Given the description of an element on the screen output the (x, y) to click on. 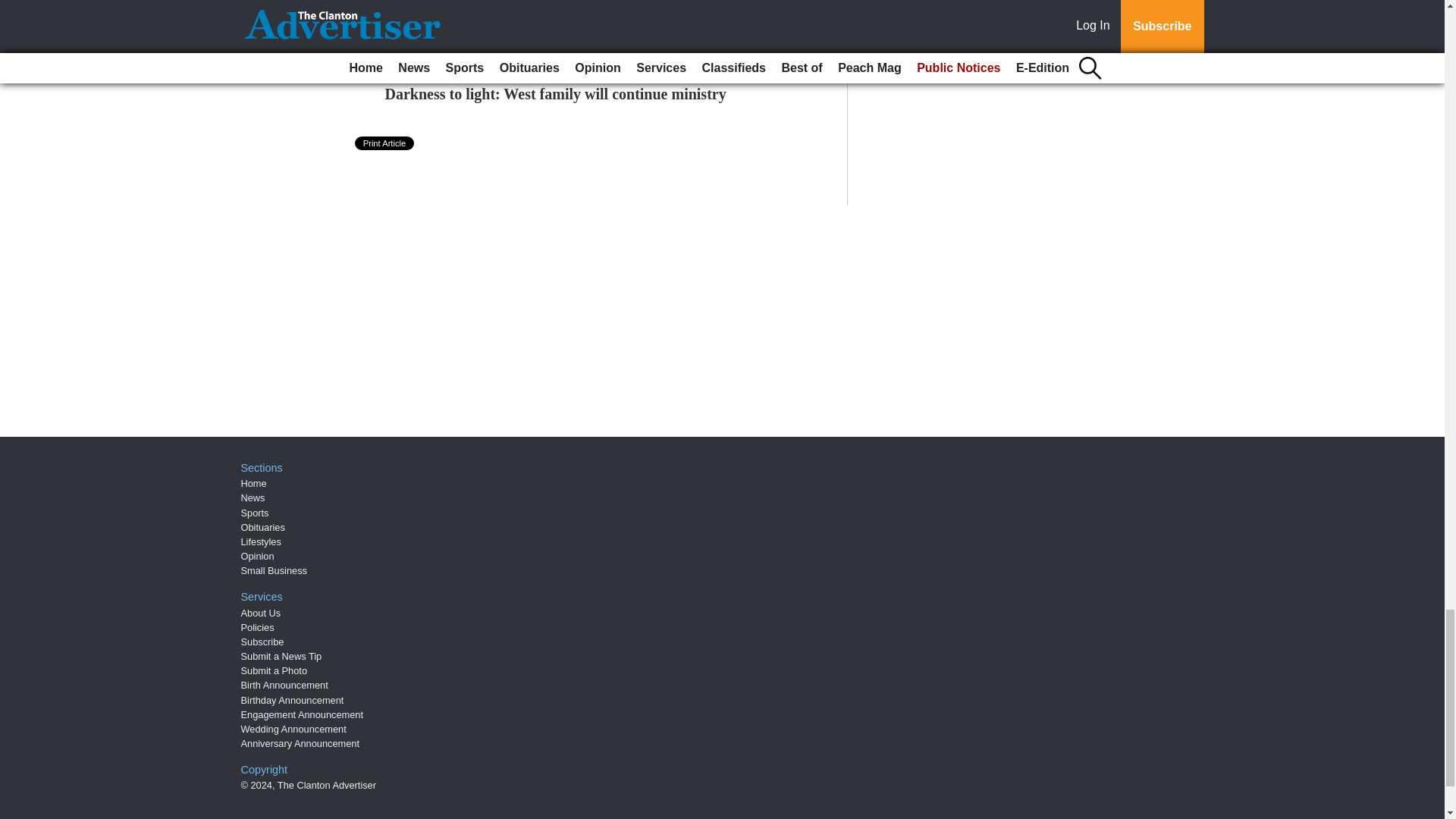
Darkness to light: West family will continue ministry (555, 93)
Darkness to light: West family will continue ministry (555, 93)
Print Article (384, 142)
